Given the description of an element on the screen output the (x, y) to click on. 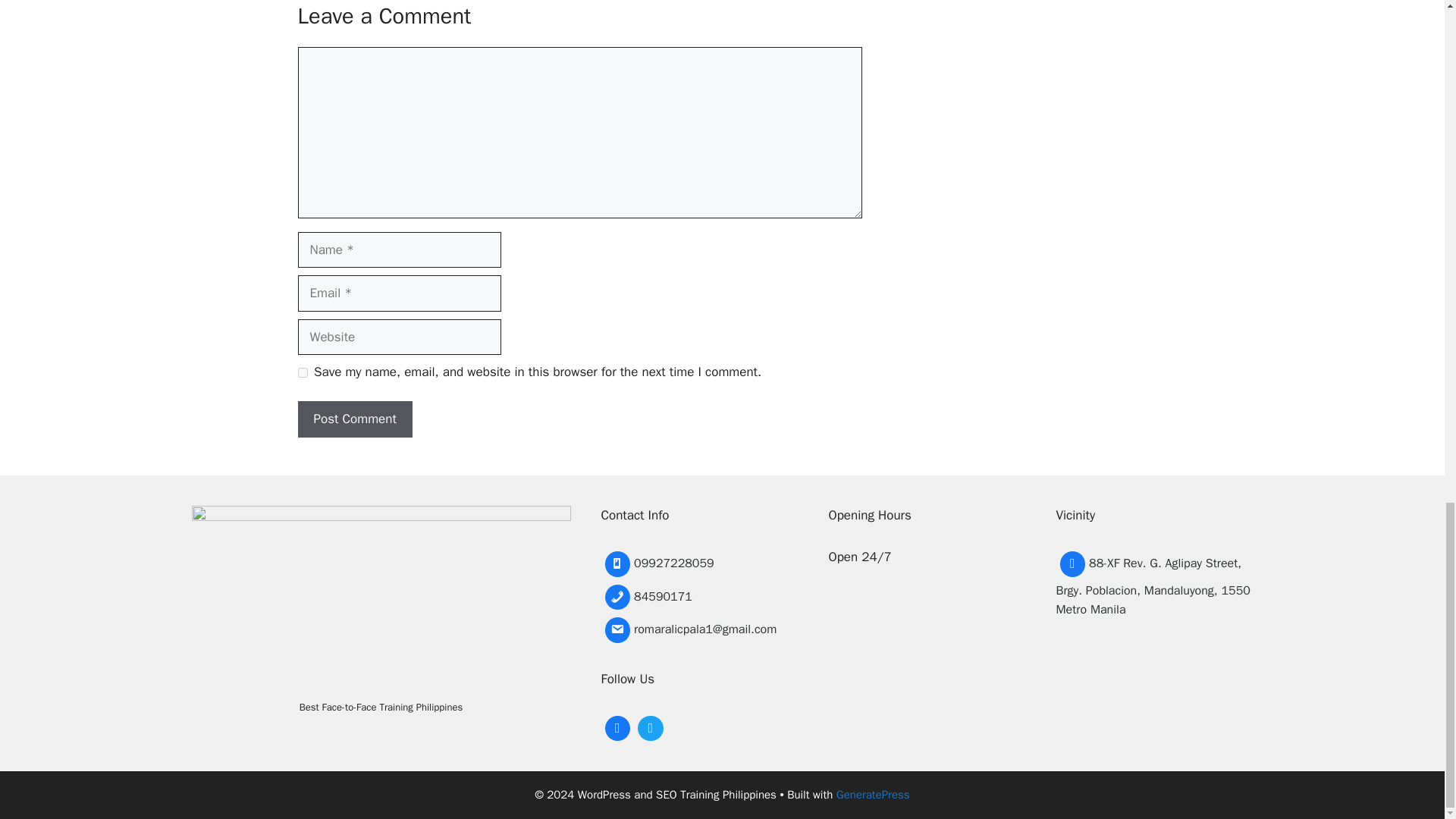
Post Comment (354, 419)
Twitter (649, 726)
Post Comment (354, 419)
yes (302, 372)
84590171 (687, 597)
09927228059 (687, 563)
84590171 (687, 597)
09927228059 (687, 563)
Facebook (616, 726)
